Given the description of an element on the screen output the (x, y) to click on. 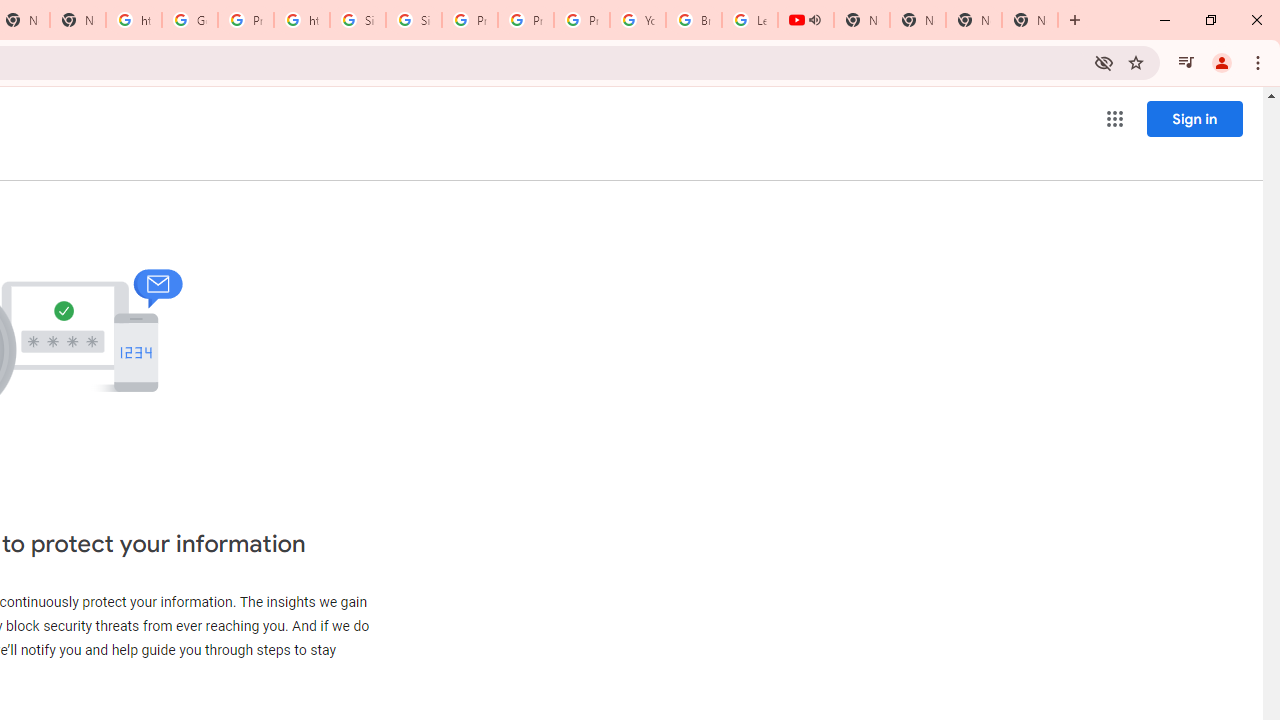
New Tab (1030, 20)
YouTube (637, 20)
Sign in - Google Accounts (413, 20)
Privacy Help Center - Policies Help (469, 20)
Sign in - Google Accounts (358, 20)
